Given the description of an element on the screen output the (x, y) to click on. 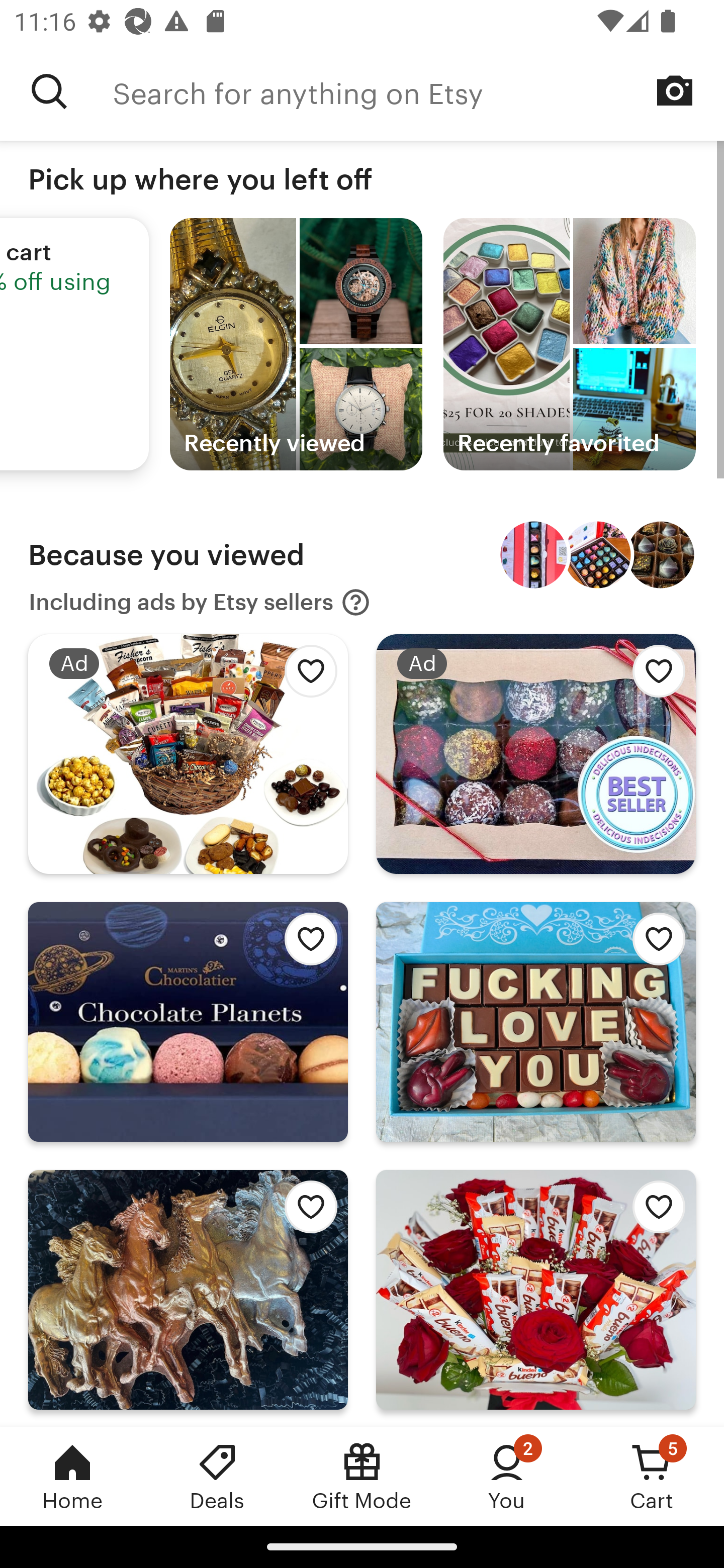
Search for anything on Etsy (49, 91)
Search by image (674, 90)
Search for anything on Etsy (418, 91)
Recently viewed (296, 343)
Recently favorited (569, 343)
Custom Large Chocolate Box (660, 554)
Including ads by Etsy sellers (199, 601)
Add Premium roses & bueno bouquet to favorites (653, 1211)
Deals (216, 1475)
Gift Mode (361, 1475)
You, 2 new notifications You (506, 1475)
Cart, 5 new notifications Cart (651, 1475)
